Given the description of an element on the screen output the (x, y) to click on. 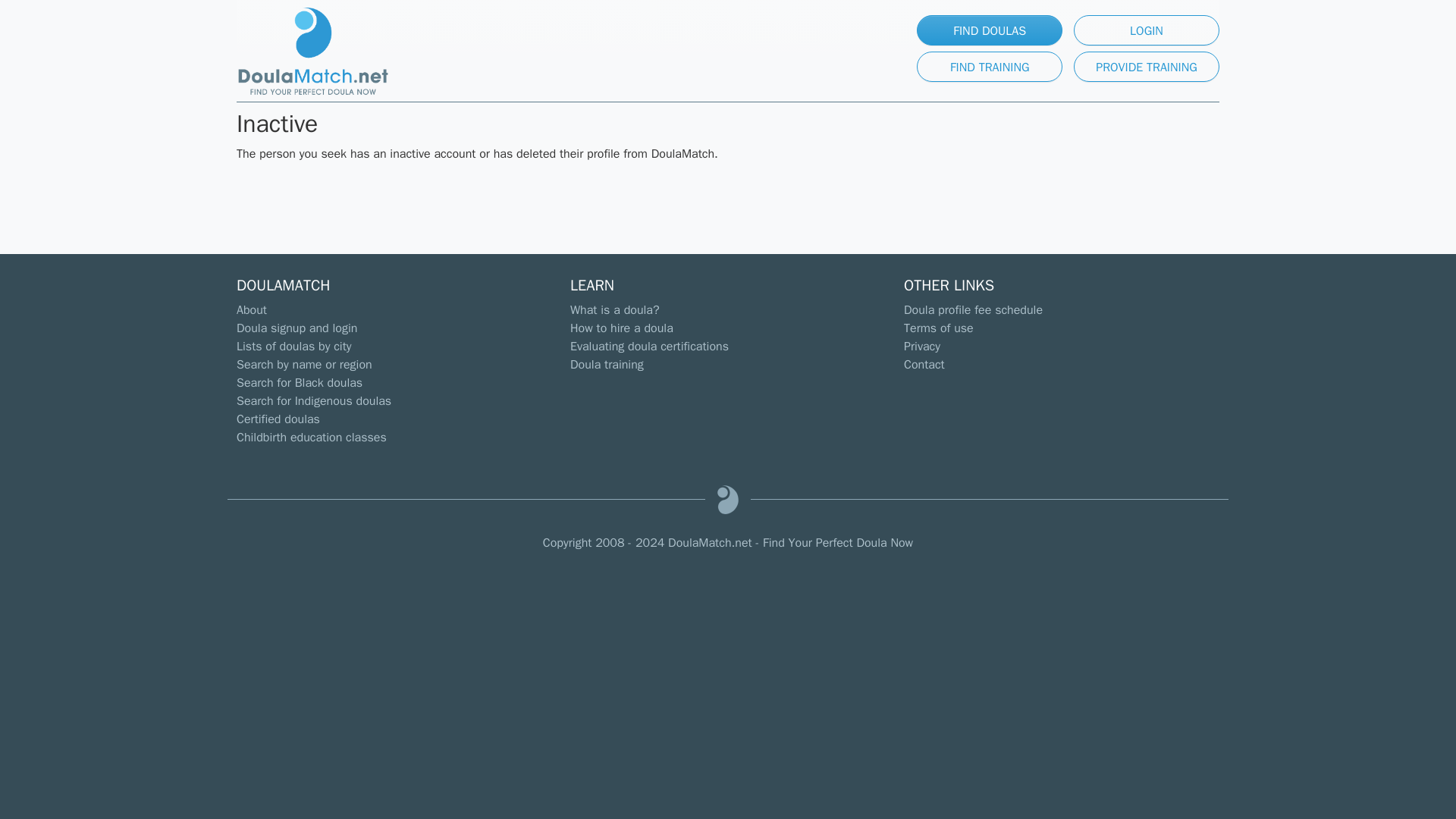
Doula signup and login (295, 328)
Certified doulas (277, 418)
PROVIDE TRAINING (1147, 66)
Terms of use (939, 328)
Privacy (922, 346)
LOGIN (1147, 30)
Search for Black doulas (298, 382)
FIND TRAINING (989, 66)
FIND DOULAS (989, 30)
What is a doula? (614, 309)
